Given the description of an element on the screen output the (x, y) to click on. 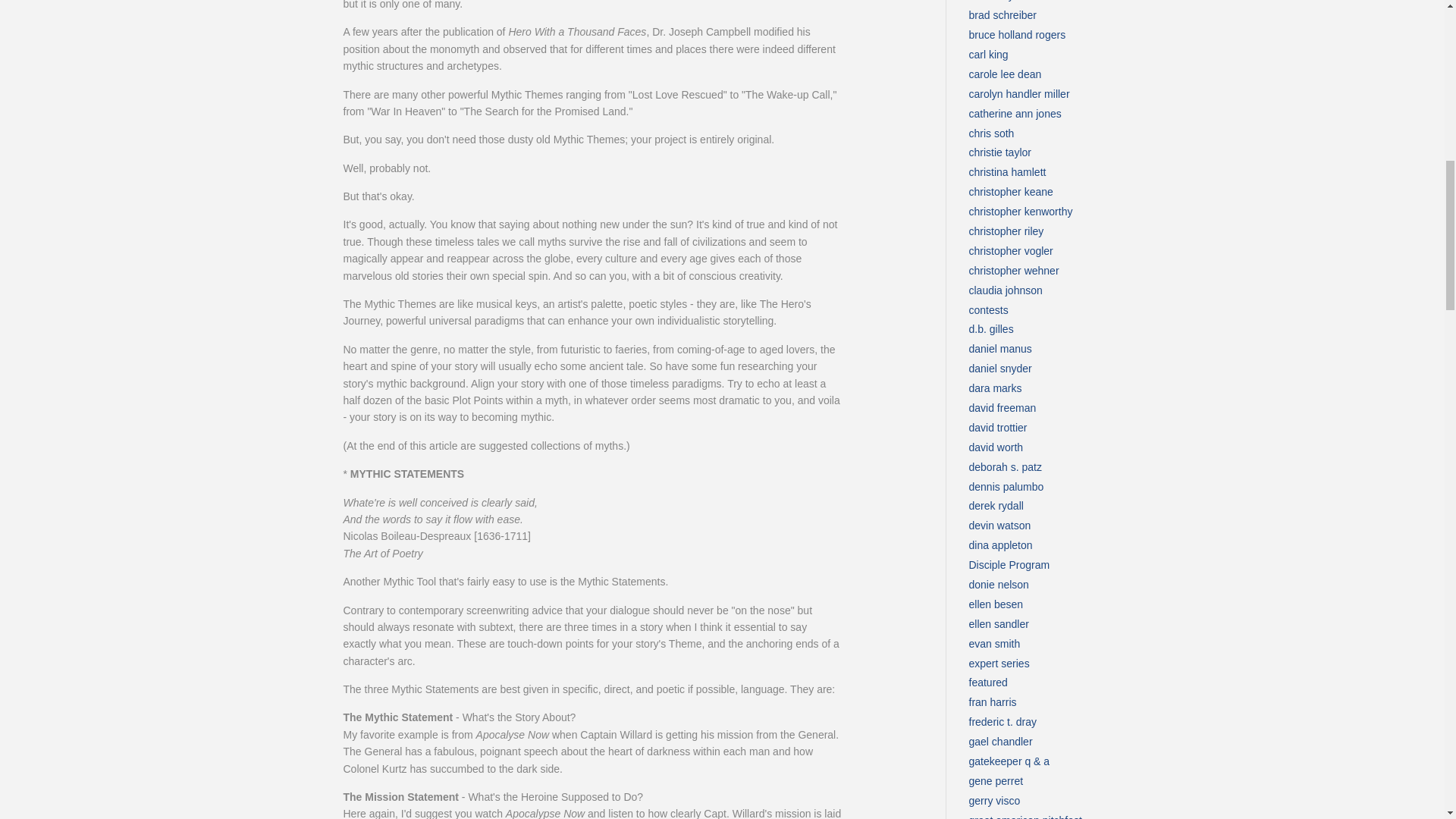
Show articles tagged blake snyder (999, 0)
Show articles tagged carole lee dean (1005, 73)
Show articles tagged carl king (989, 54)
Show articles tagged brad schreiber (1002, 15)
Show articles tagged bruce holland rogers (1017, 34)
